Given the description of an element on the screen output the (x, y) to click on. 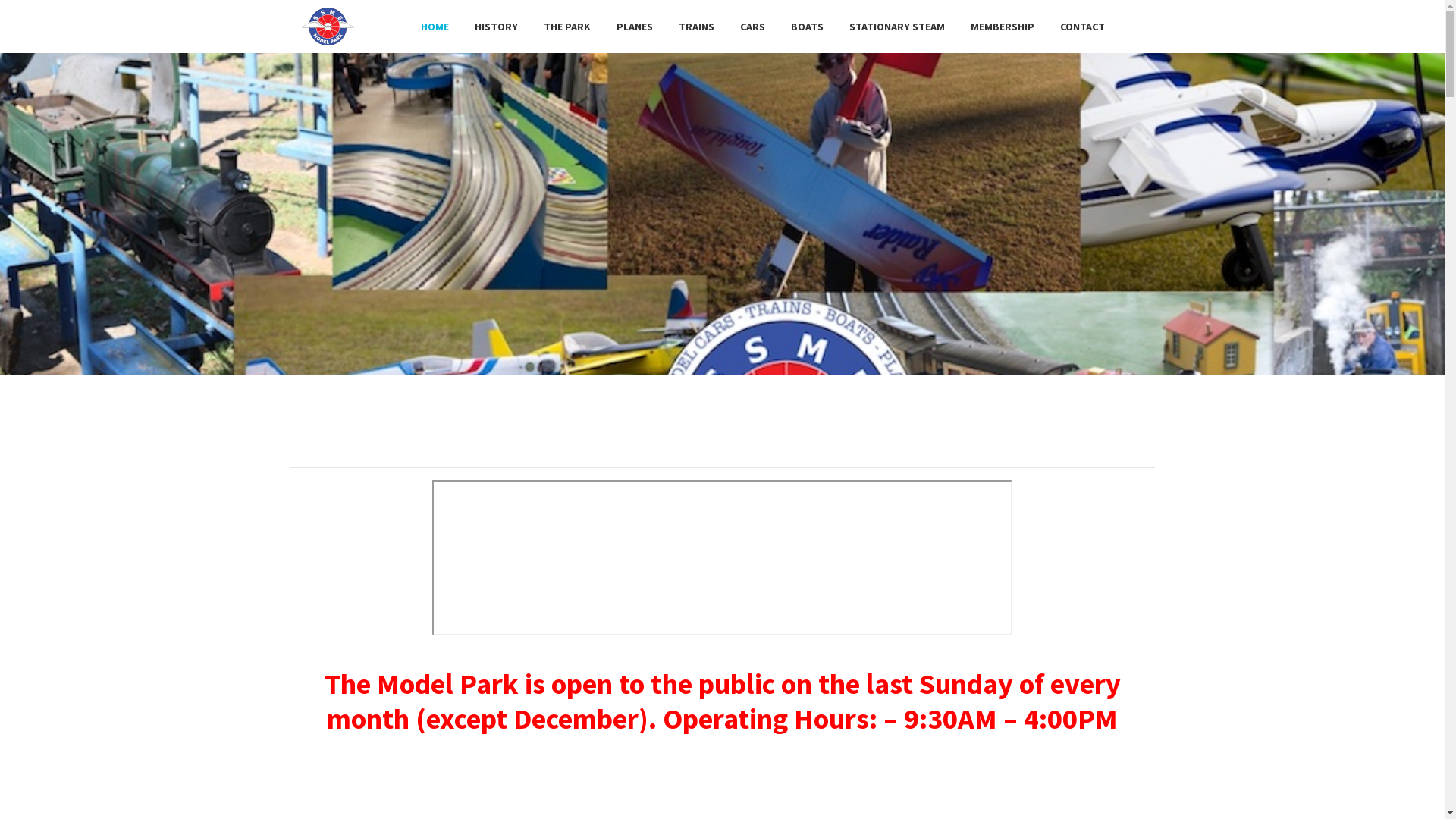
BOATS Element type: text (807, 26)
HISTORY Element type: text (495, 26)
THE PARK Element type: text (566, 26)
STATIONARY STEAM Element type: text (896, 26)
TRAINS Element type: text (696, 26)
MEMBERSHIP Element type: text (1001, 26)
PLANES Element type: text (634, 26)
CARS Element type: text (751, 26)
CONTACT Element type: text (1081, 26)
HOME Element type: text (434, 26)
